Given the description of an element on the screen output the (x, y) to click on. 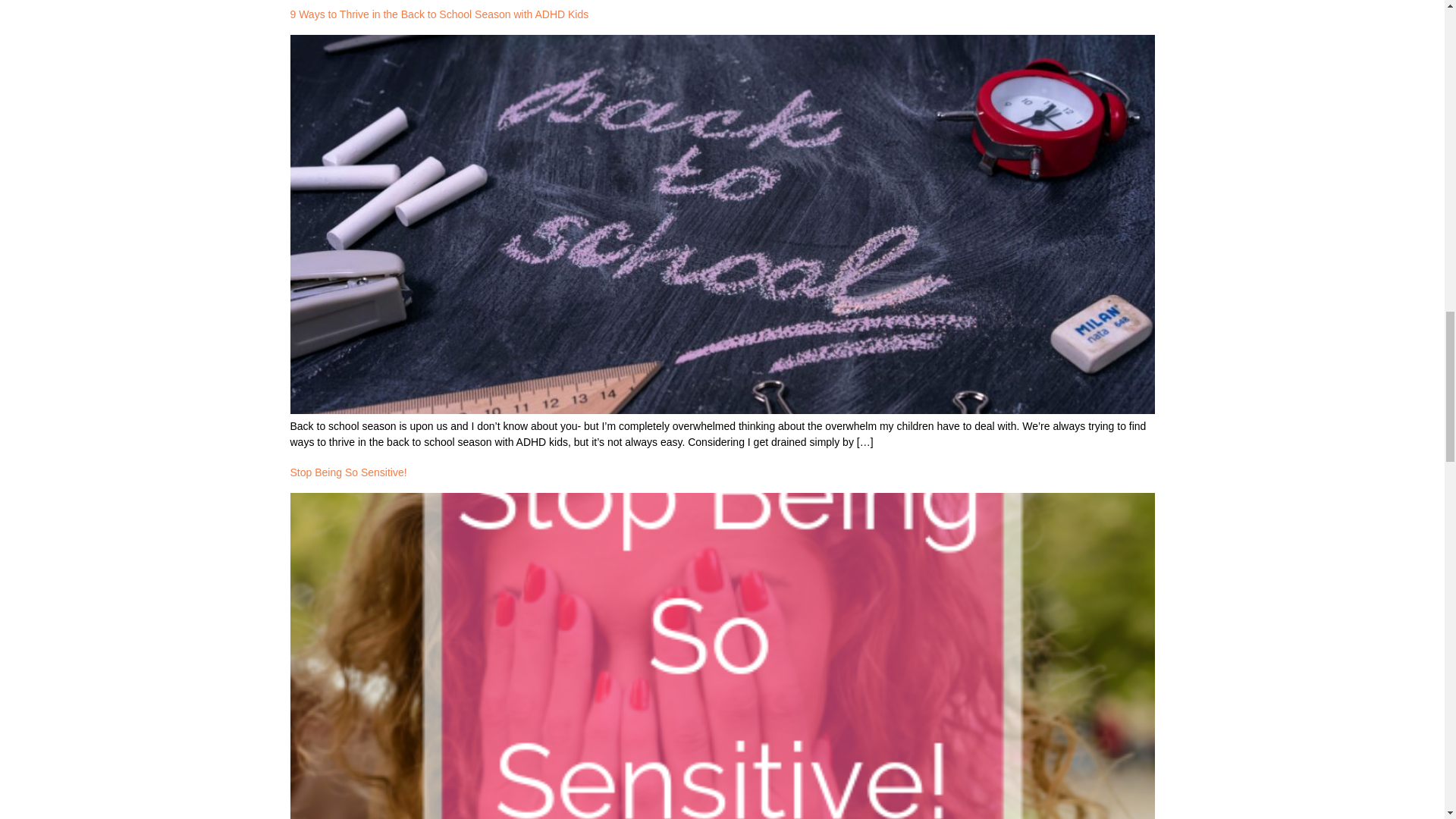
9 Ways to Thrive in the Back to School Season with ADHD Kids (438, 14)
